Given the description of an element on the screen output the (x, y) to click on. 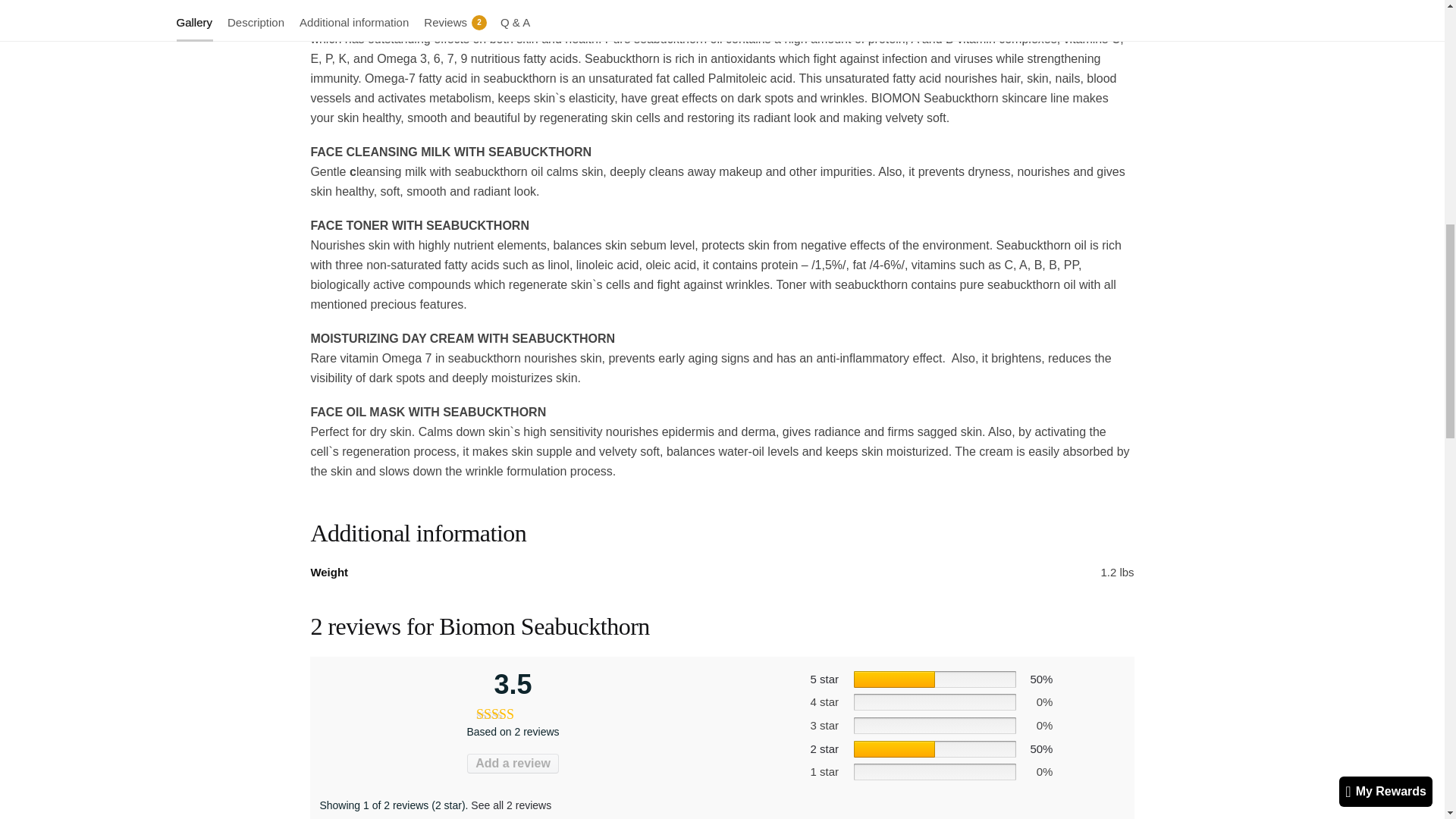
2 star (823, 748)
5 star (823, 678)
